Given the description of an element on the screen output the (x, y) to click on. 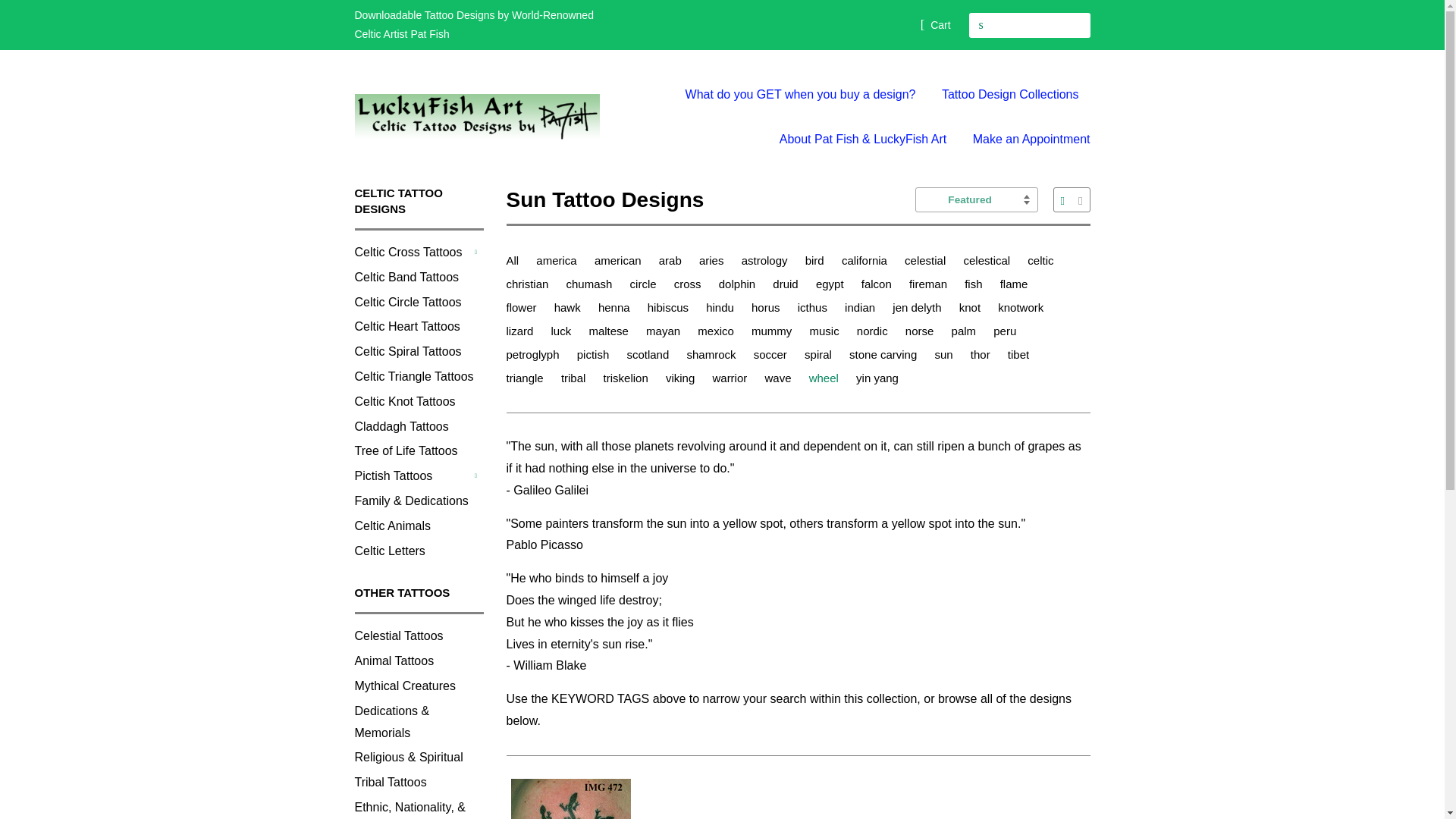
Show products matching tag celtic (1042, 259)
Show products matching tag chumash (591, 283)
Show products matching tag cross (690, 283)
Cart (935, 24)
Show products matching tag dolphin (739, 283)
Show products matching tag aries (713, 259)
Show products matching tag christian (530, 283)
Show products matching tag celestial (927, 259)
Show products matching tag arab (673, 259)
Show products matching tag american (620, 259)
Search (980, 25)
Show products matching tag bird (817, 259)
Show products matching tag celestical (988, 259)
Show products matching tag america (557, 259)
Show products matching tag circle (646, 283)
